Given the description of an element on the screen output the (x, y) to click on. 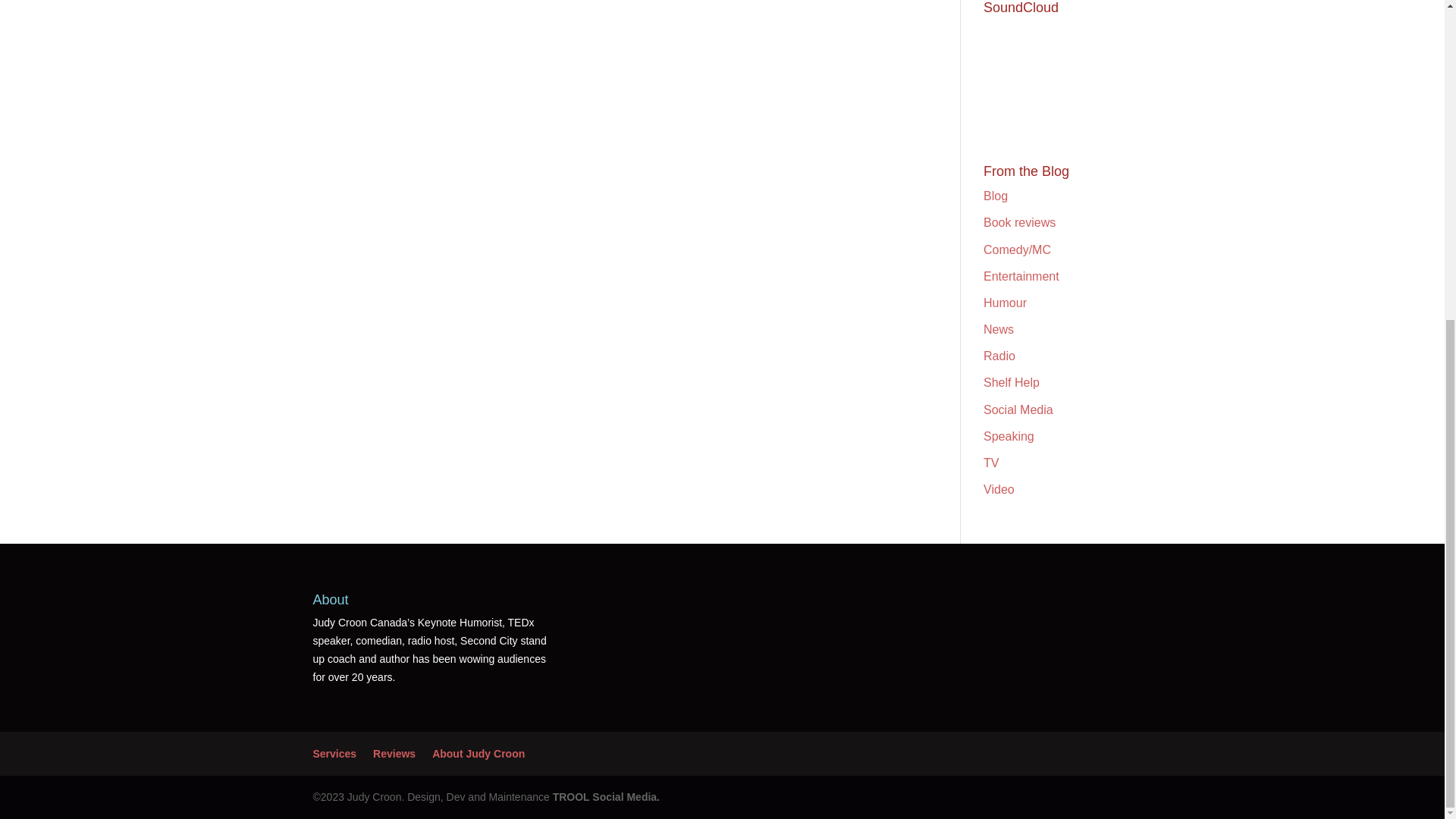
Radio (999, 355)
News (998, 328)
Book reviews (1019, 222)
Shelf Help (1011, 382)
Humour (1005, 302)
Entertainment (1021, 276)
Social Media (1018, 409)
Blog (995, 195)
